Given the description of an element on the screen output the (x, y) to click on. 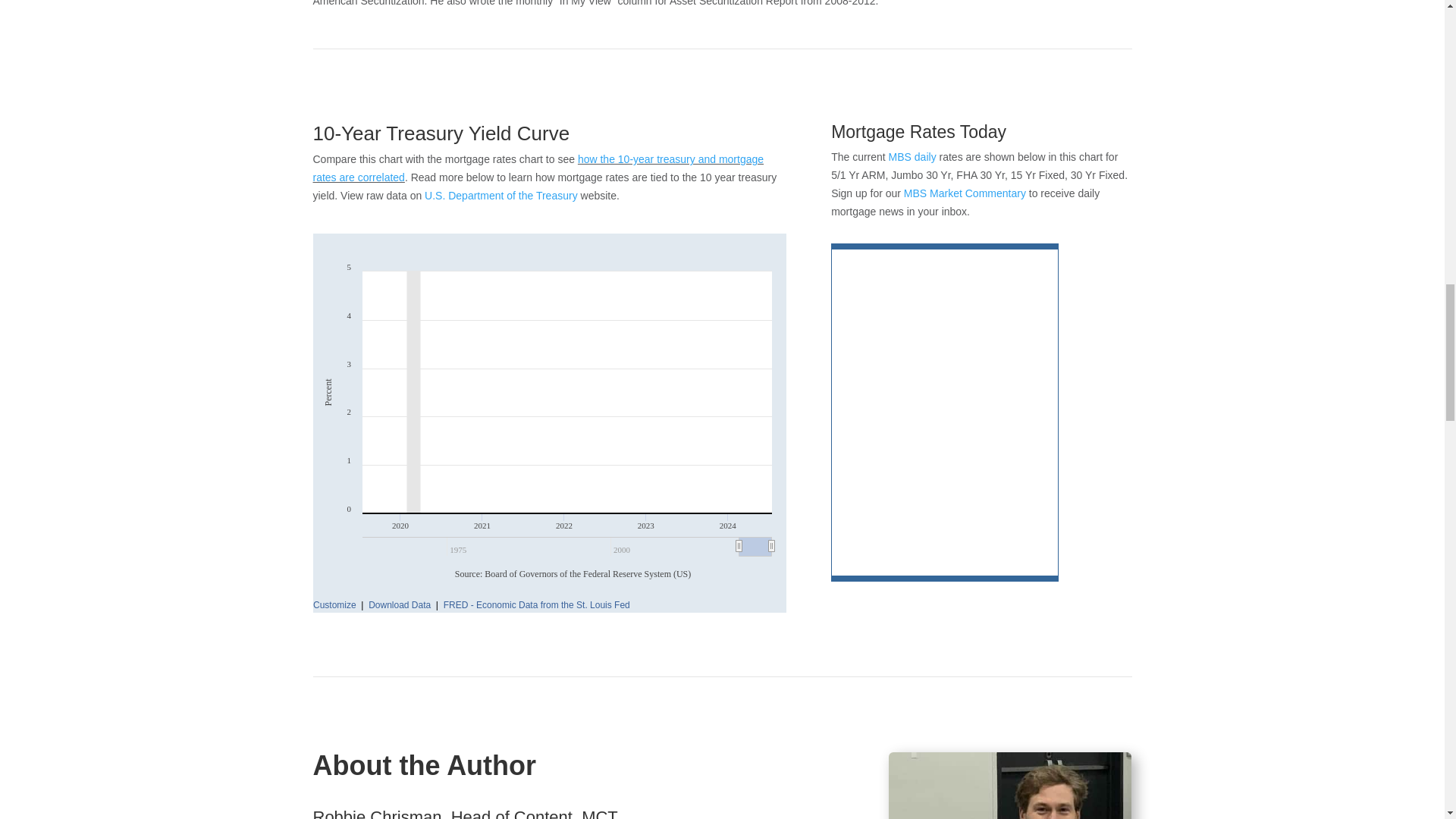
Robbie-Chrisman-the-Chrisman-Commentary-head-shot-265x300-1 (1009, 785)
MBS daily (912, 156)
